Given the description of an element on the screen output the (x, y) to click on. 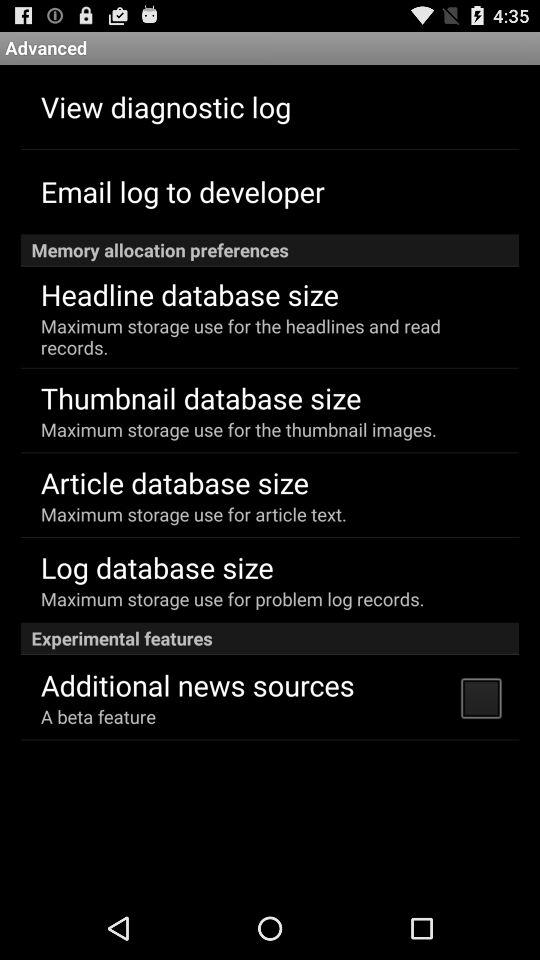
open the app below the experimental features (480, 697)
